Given the description of an element on the screen output the (x, y) to click on. 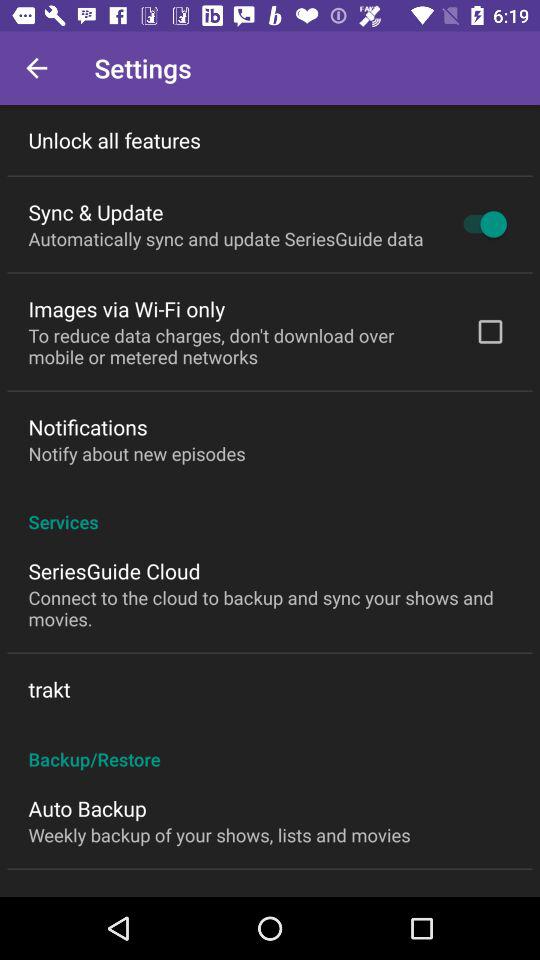
tap icon to the right of automatically sync and (480, 224)
